Given the description of an element on the screen output the (x, y) to click on. 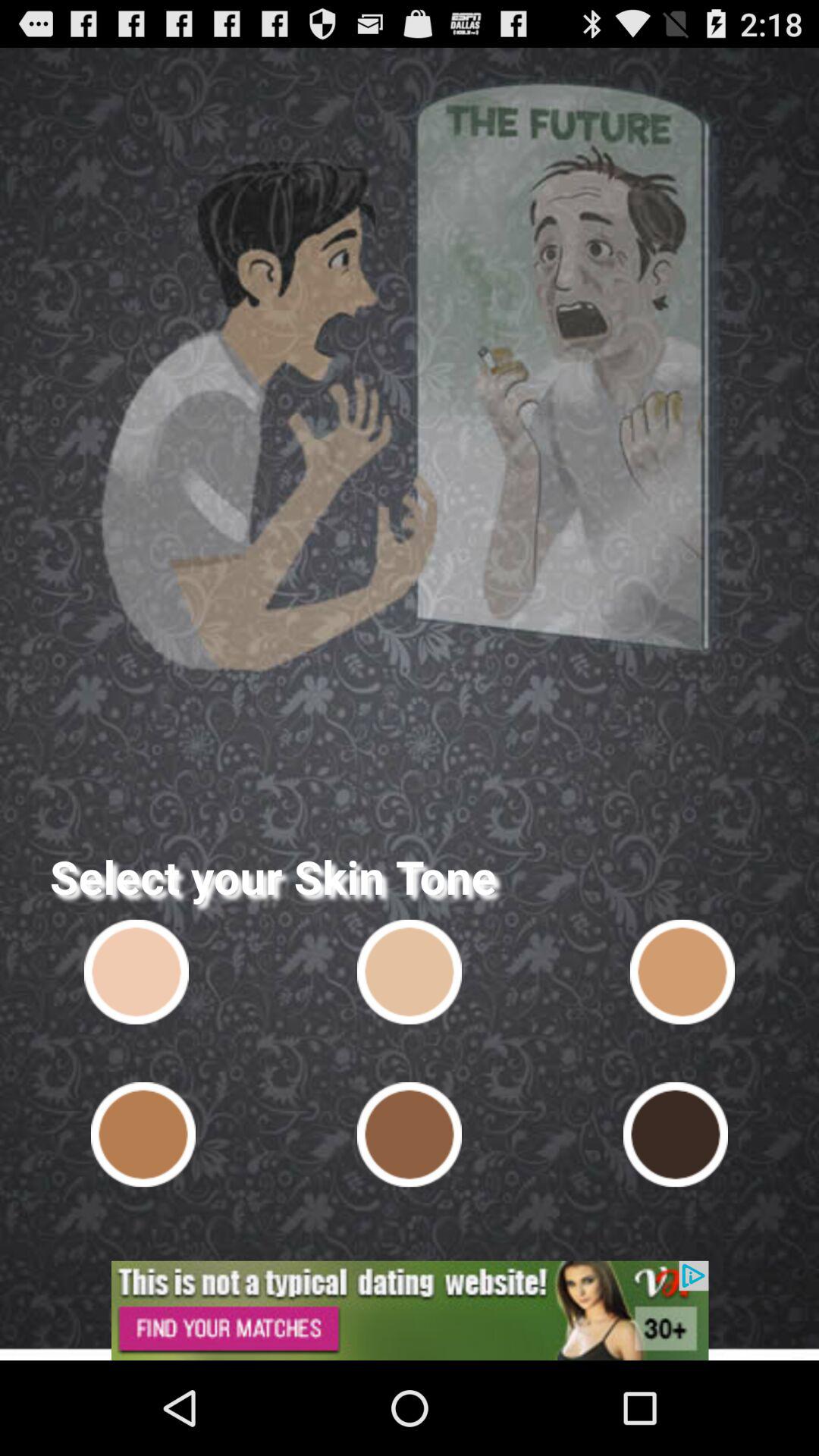
select skin tone (143, 1134)
